Given the description of an element on the screen output the (x, y) to click on. 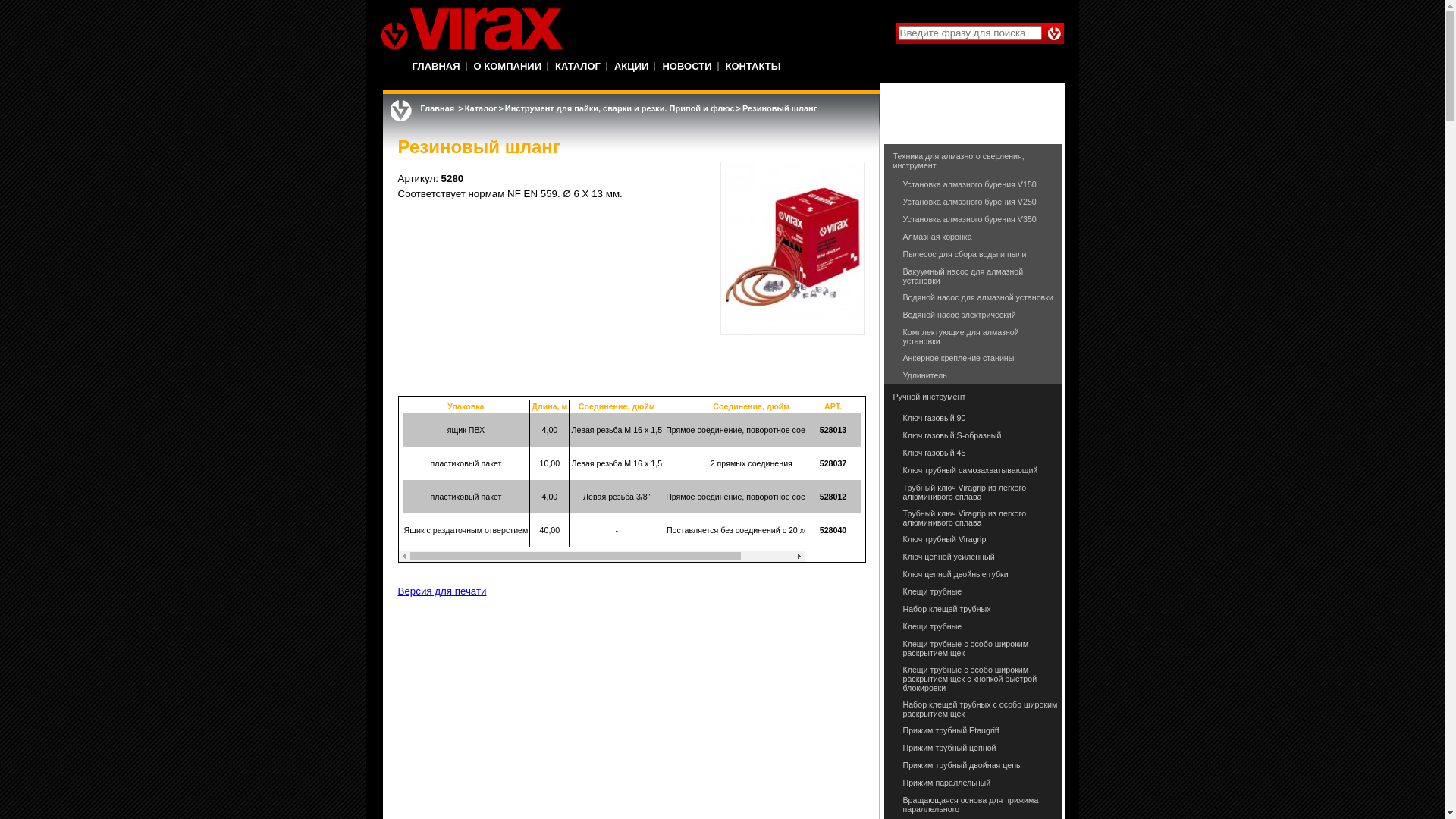
Virax Element type: hover (470, 28)
